Given the description of an element on the screen output the (x, y) to click on. 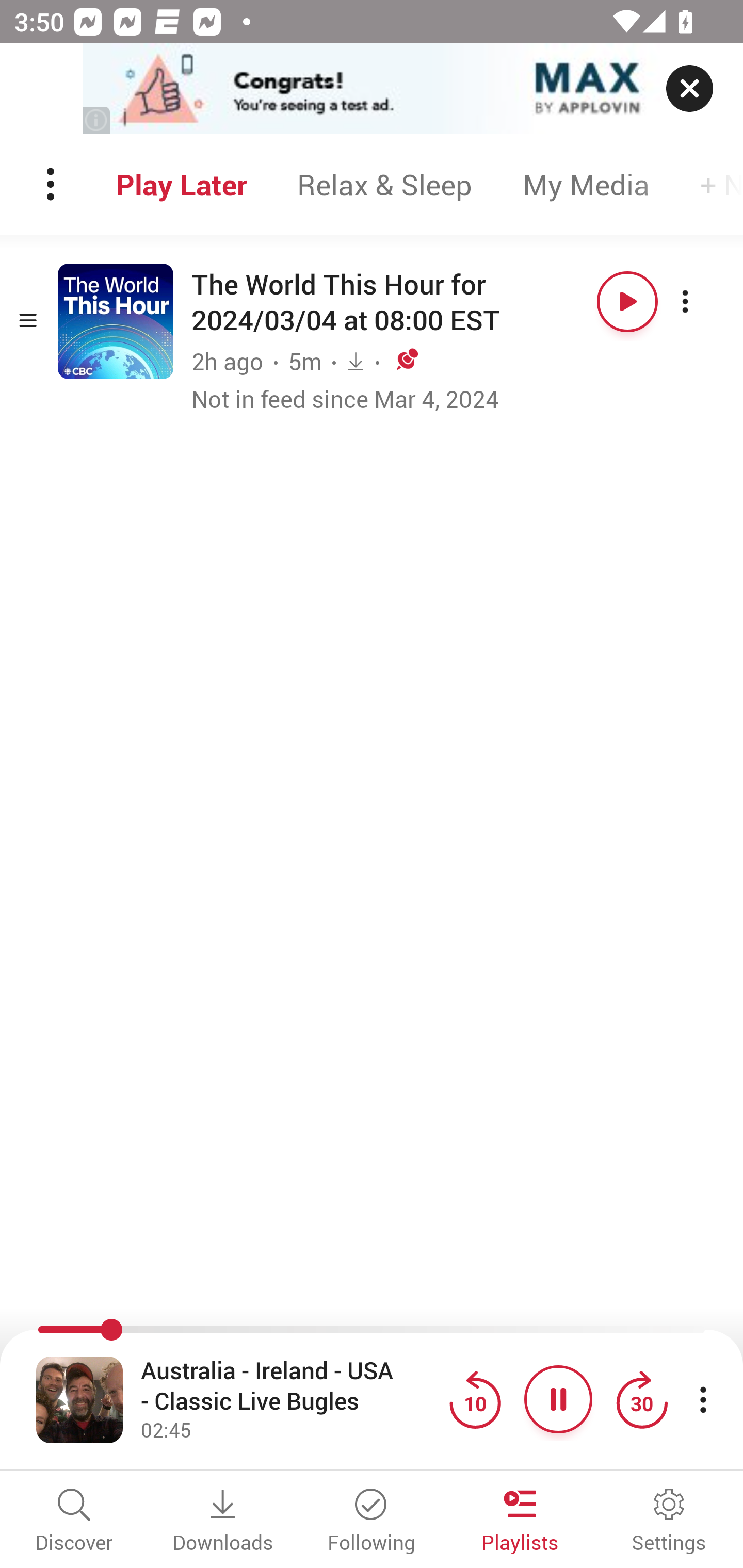
app-monetization (371, 88)
(i) (96, 119)
Menu (52, 184)
Play Later (180, 184)
Relax & Sleep (384, 184)
My Media (585, 184)
Play button (627, 301)
More options (703, 301)
Open series The World This Hour (115, 321)
Open fullscreen player (79, 1399)
More player controls (703, 1399)
Australia - Ireland - USA - Classic Live Bugles (290, 1385)
Pause button (558, 1398)
Jump back (475, 1399)
Jump forward (641, 1399)
Discover (74, 1521)
Downloads (222, 1521)
Following (371, 1521)
Playlists (519, 1521)
Settings (668, 1521)
